Given the description of an element on the screen output the (x, y) to click on. 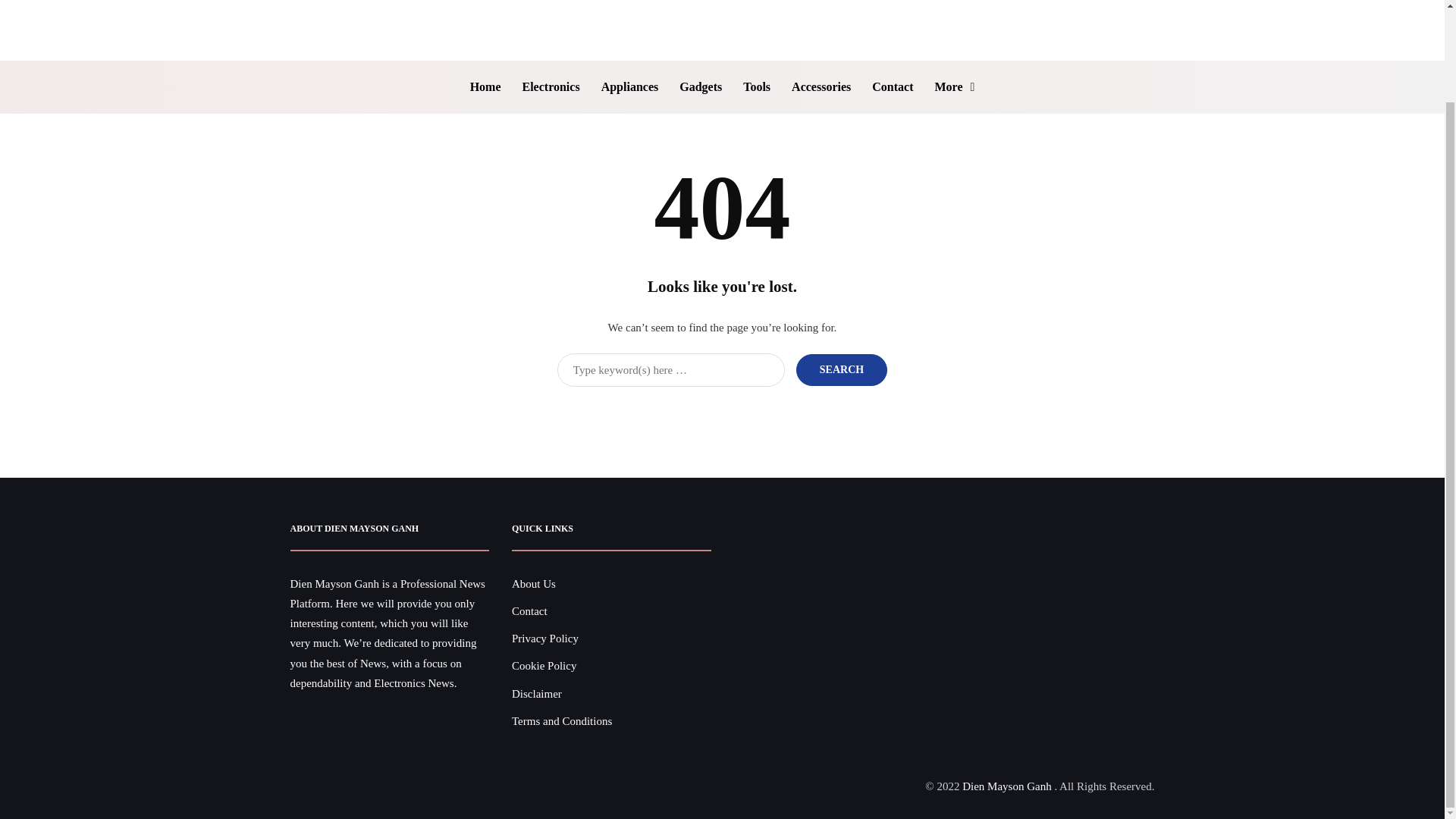
Contact (529, 611)
Search (841, 368)
Disclaimer (537, 693)
Appliances (630, 87)
Tools (756, 87)
About Us (534, 583)
Accessories (820, 87)
Cookie Policy (544, 665)
Electronics (550, 87)
Home (486, 87)
Privacy Policy (545, 638)
Search (841, 368)
Contact (892, 87)
Terms and Conditions (561, 720)
Gadgets (700, 87)
